Given the description of an element on the screen output the (x, y) to click on. 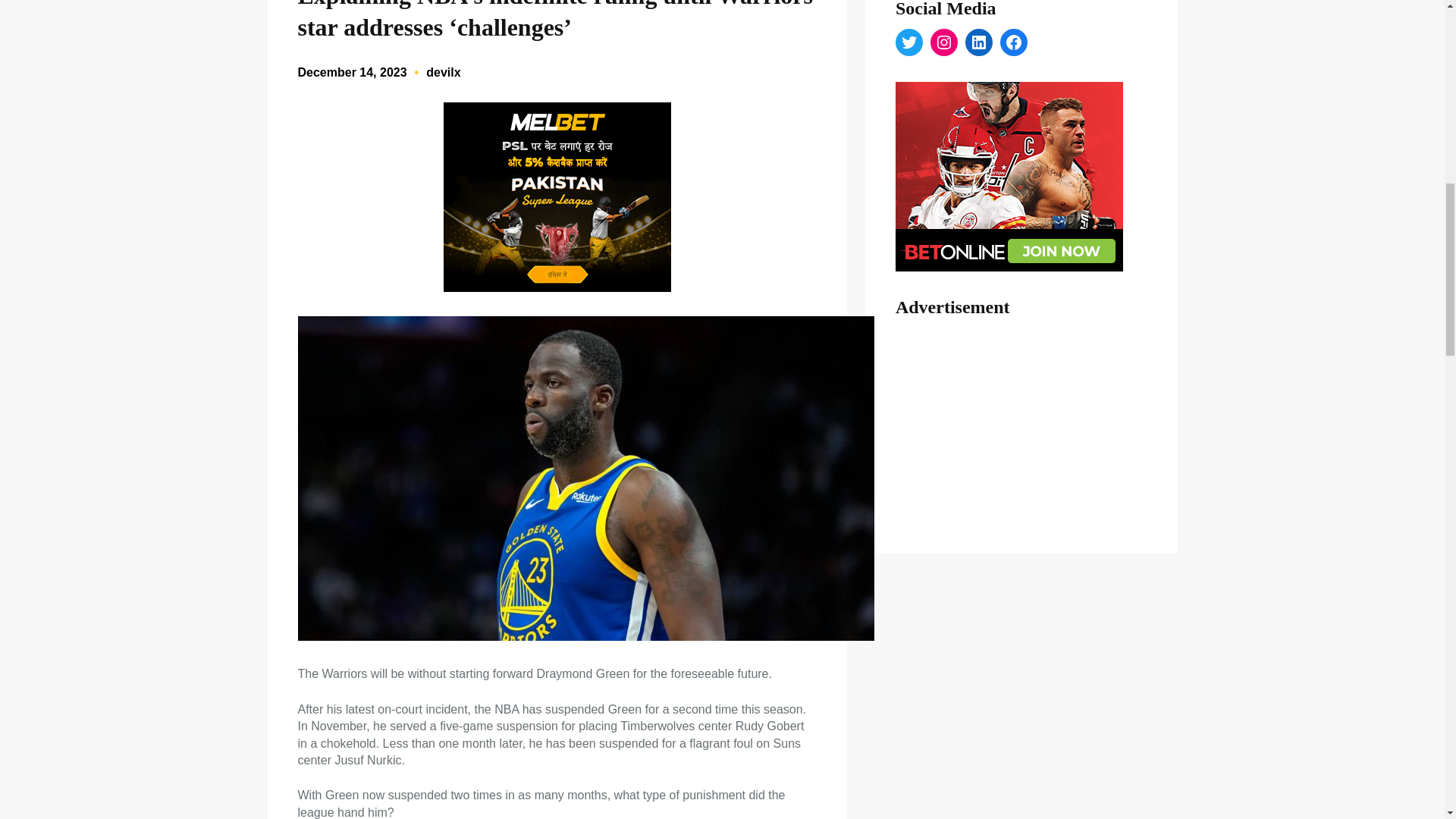
devilx (443, 72)
Instagram (944, 42)
LinkedIn (978, 42)
Facebook (1013, 42)
Twitter (909, 42)
